Given the description of an element on the screen output the (x, y) to click on. 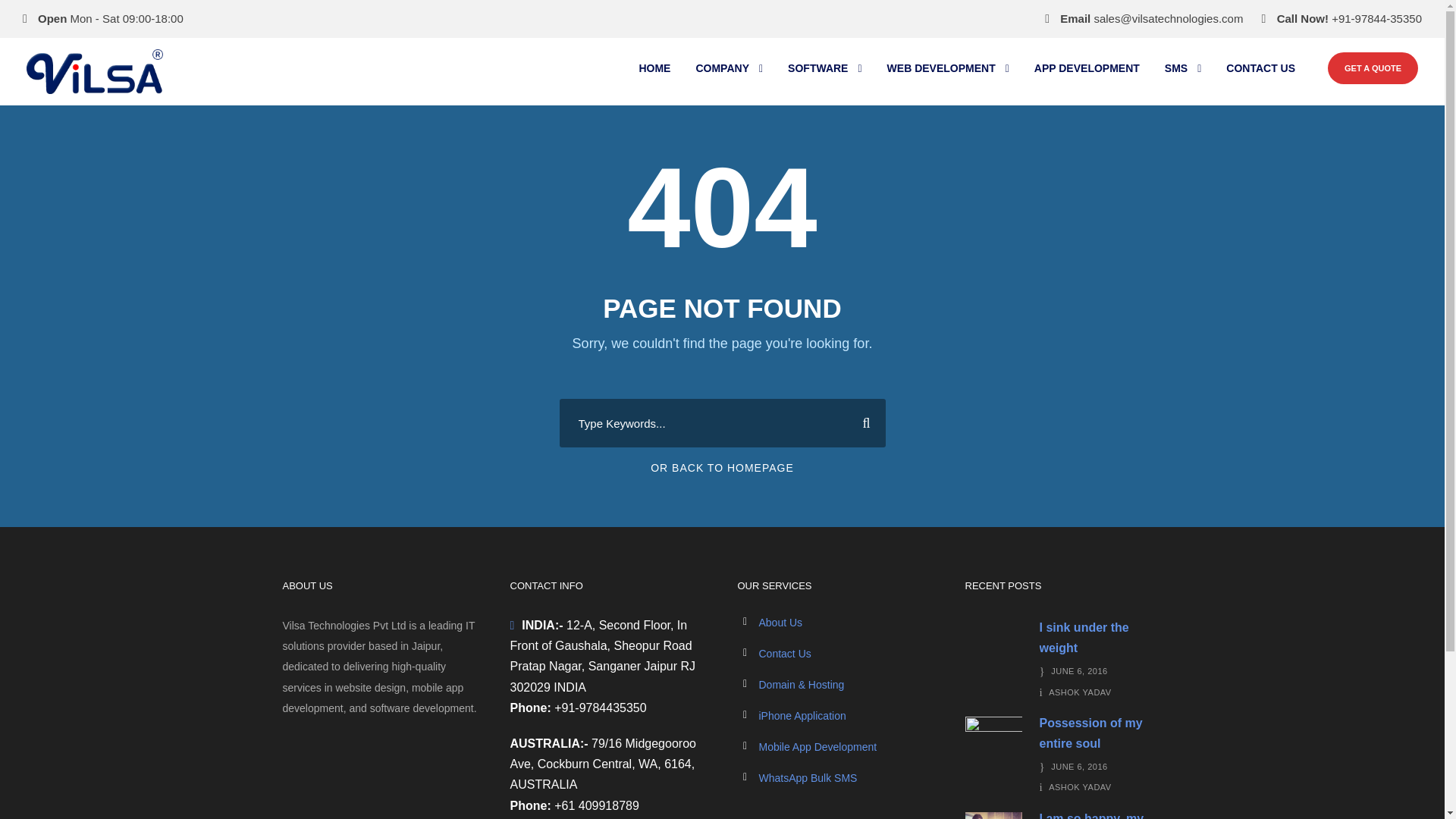
Posts by Ashok Yadav (1080, 691)
laptop-mobile (992, 649)
Posts by Ashok Yadav (1080, 786)
